Given the description of an element on the screen output the (x, y) to click on. 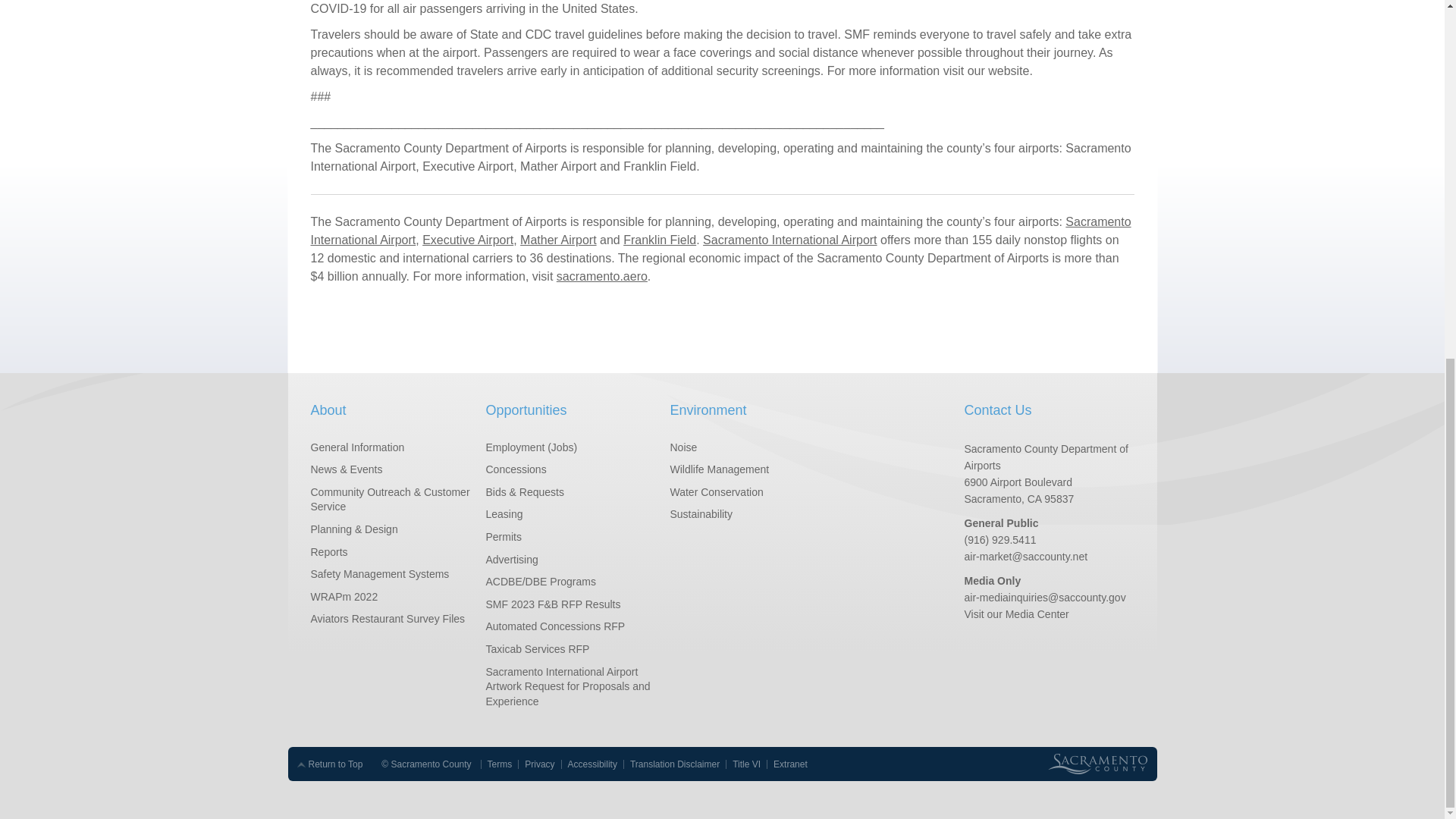
Visit SacCounty.net (1101, 763)
